Given the description of an element on the screen output the (x, y) to click on. 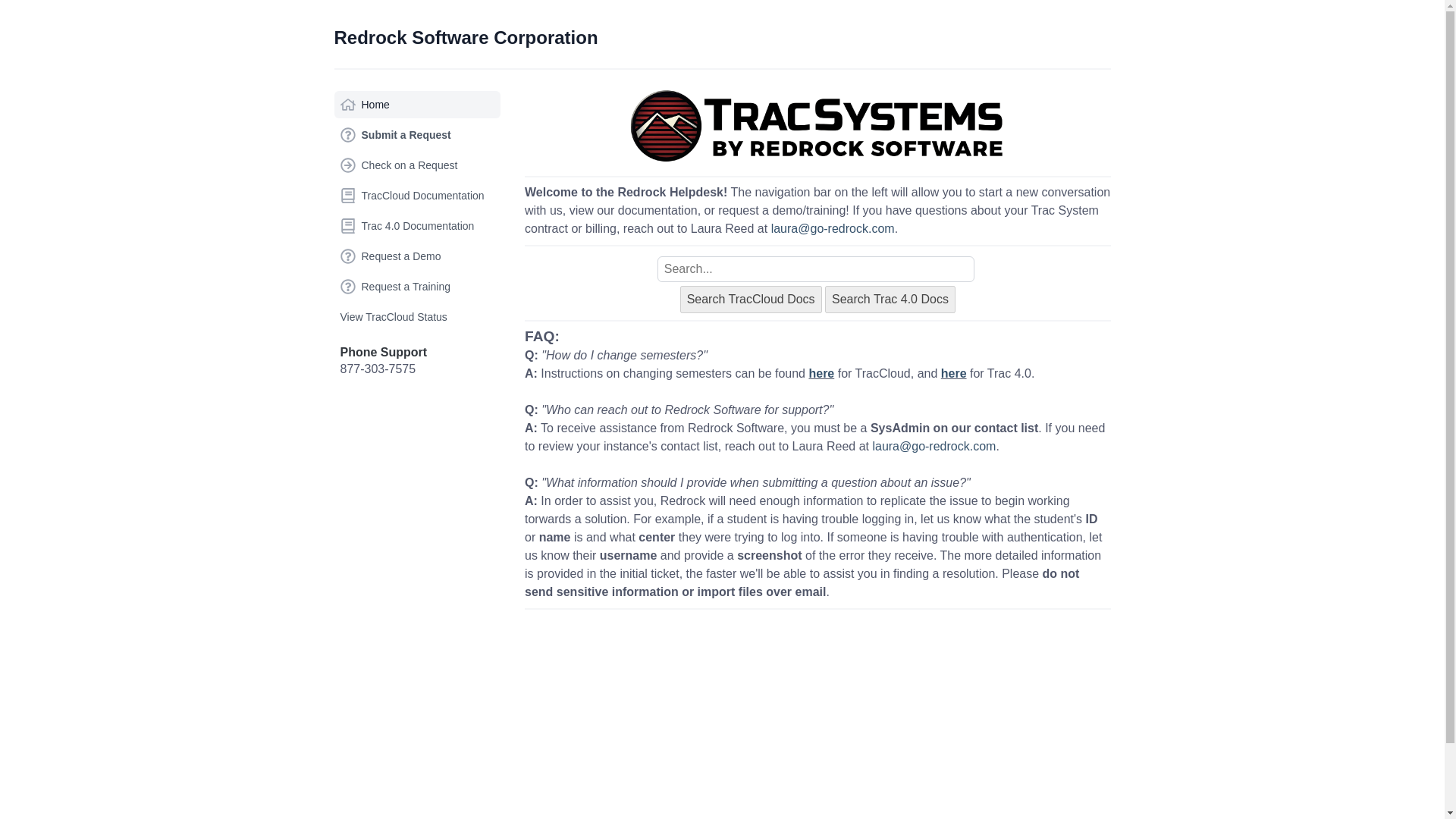
Check on a Request (416, 165)
TracCloud Documentation (416, 195)
here (821, 373)
Search TracCloud Docs (750, 298)
here (953, 373)
Trac 4.0 Documentation (416, 225)
Search Trac 4.0 Docs (890, 298)
Request a Demo (416, 256)
Request a Training (416, 286)
Home (416, 103)
